Given the description of an element on the screen output the (x, y) to click on. 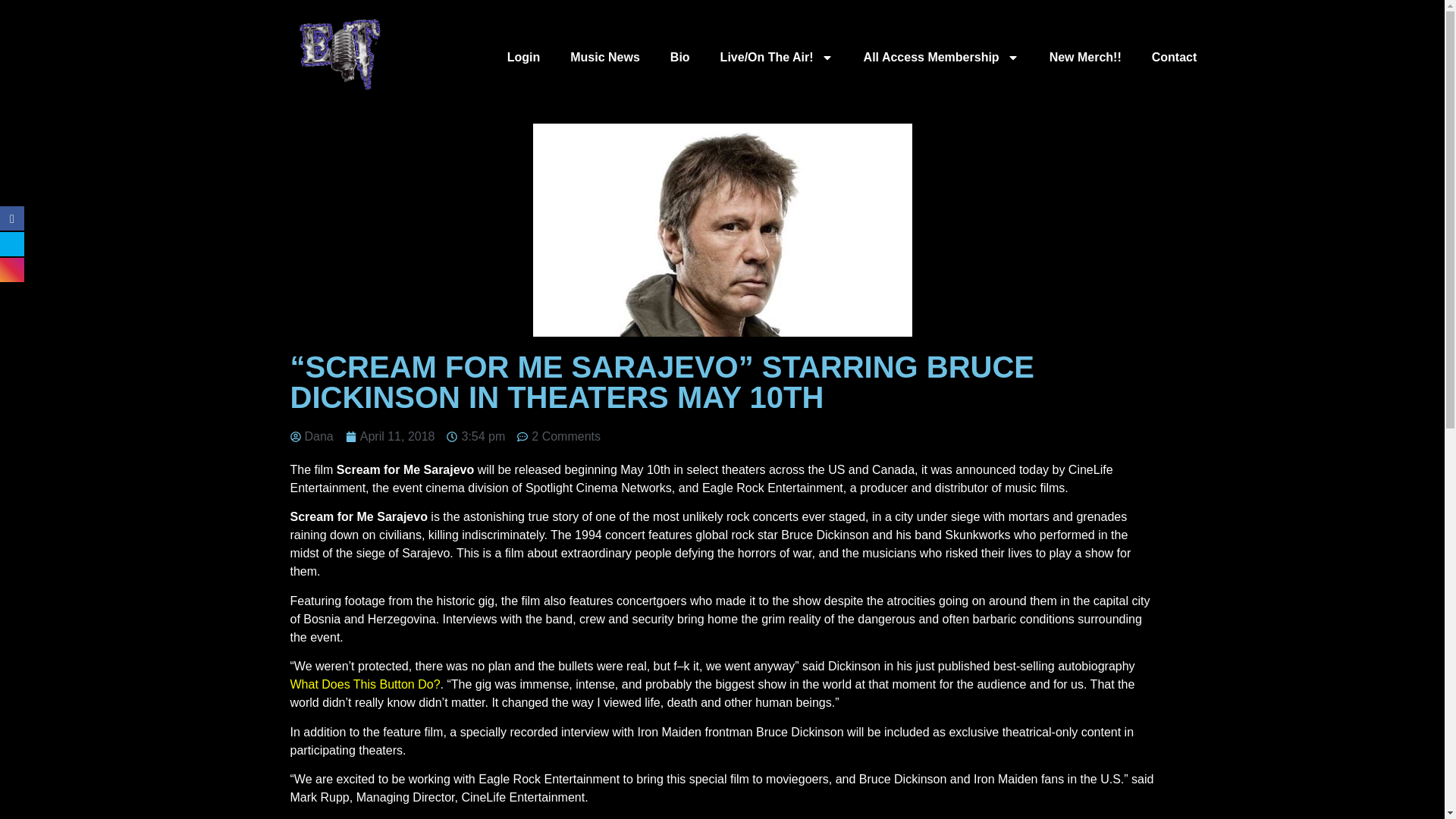
Contact (1174, 57)
Music News (604, 57)
April 11, 2018 (390, 436)
Dana (311, 436)
2 Comments (557, 436)
ALL ACCESS MEMBERSHIP (940, 57)
New Merch!! (1085, 57)
All Access Membership (940, 57)
Login (524, 57)
What Does This Button Do? (364, 684)
Bio (679, 57)
Music News (604, 57)
